Given the description of an element on the screen output the (x, y) to click on. 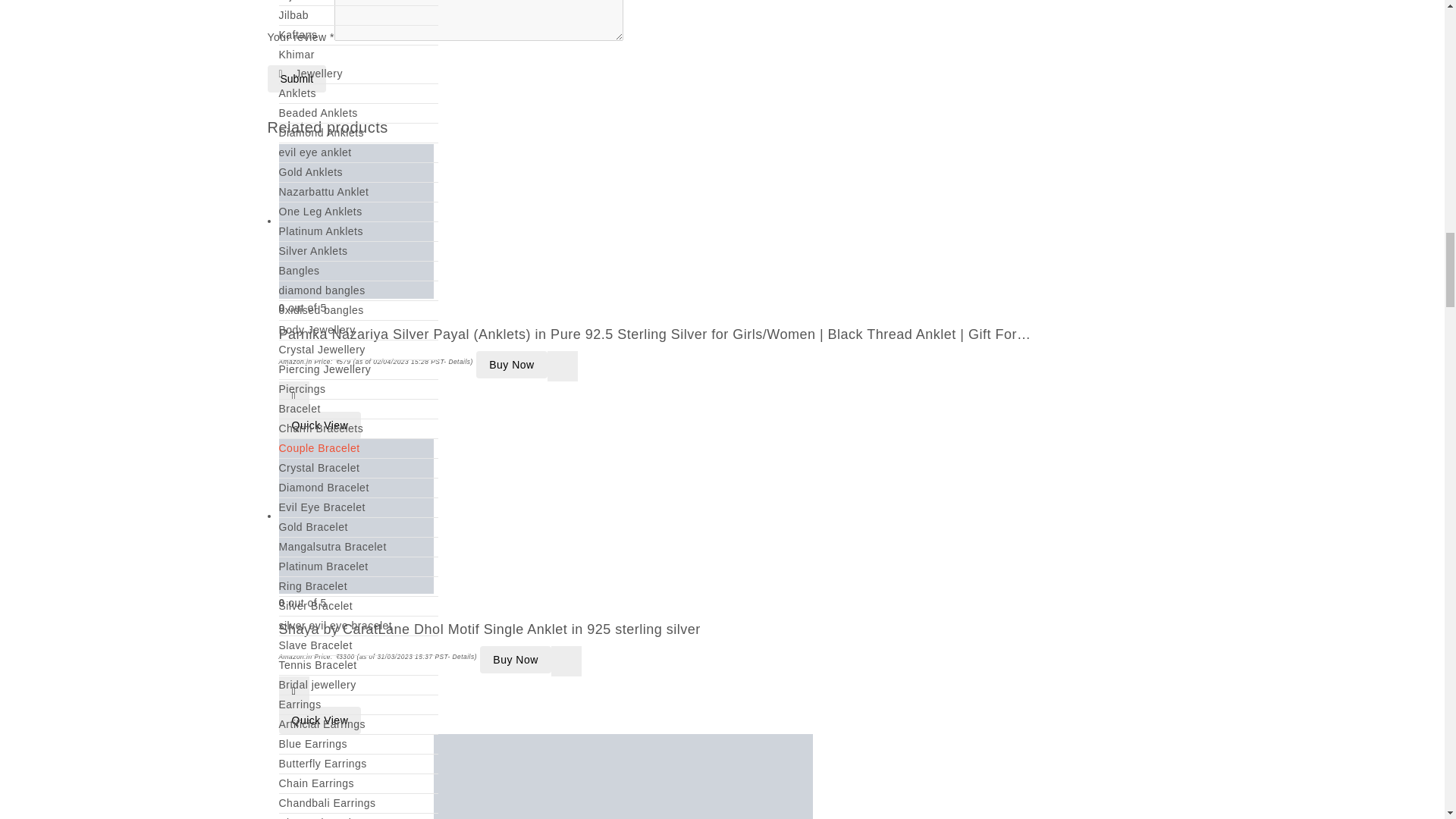
Submit (296, 78)
Not yet rated (728, 307)
Not yet rated (728, 602)
